Given the description of an element on the screen output the (x, y) to click on. 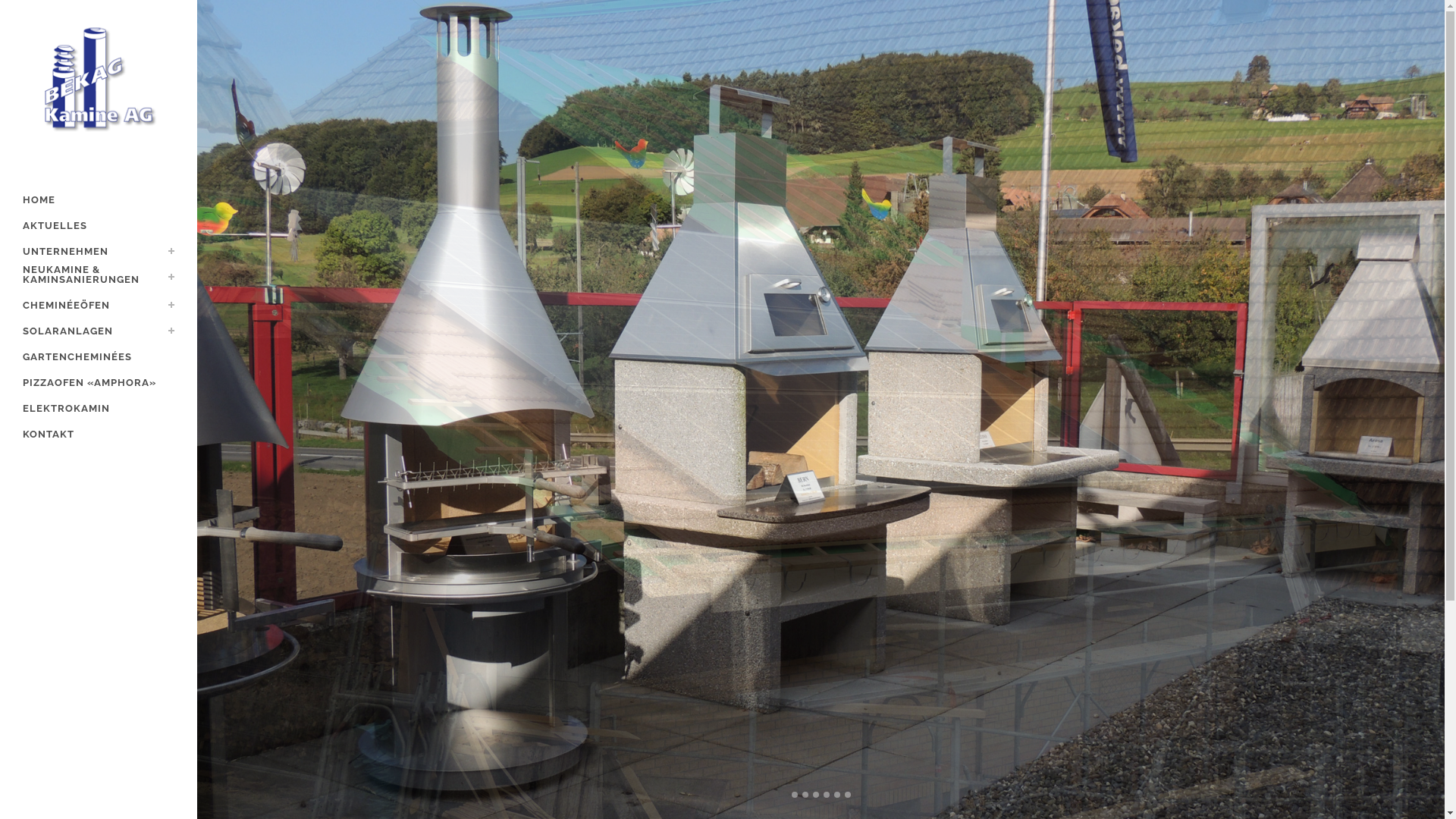
HOME Element type: text (98, 200)
SOLARANLAGEN Element type: text (98, 331)
NEUKAMINE & KAMINSANIERUNGEN Element type: text (98, 278)
ELEKTROKAMIN Element type: text (98, 408)
KONTAKT Element type: text (98, 434)
UNTERNEHMEN Element type: text (98, 251)
AKTUELLES Element type: text (98, 225)
